Given the description of an element on the screen output the (x, y) to click on. 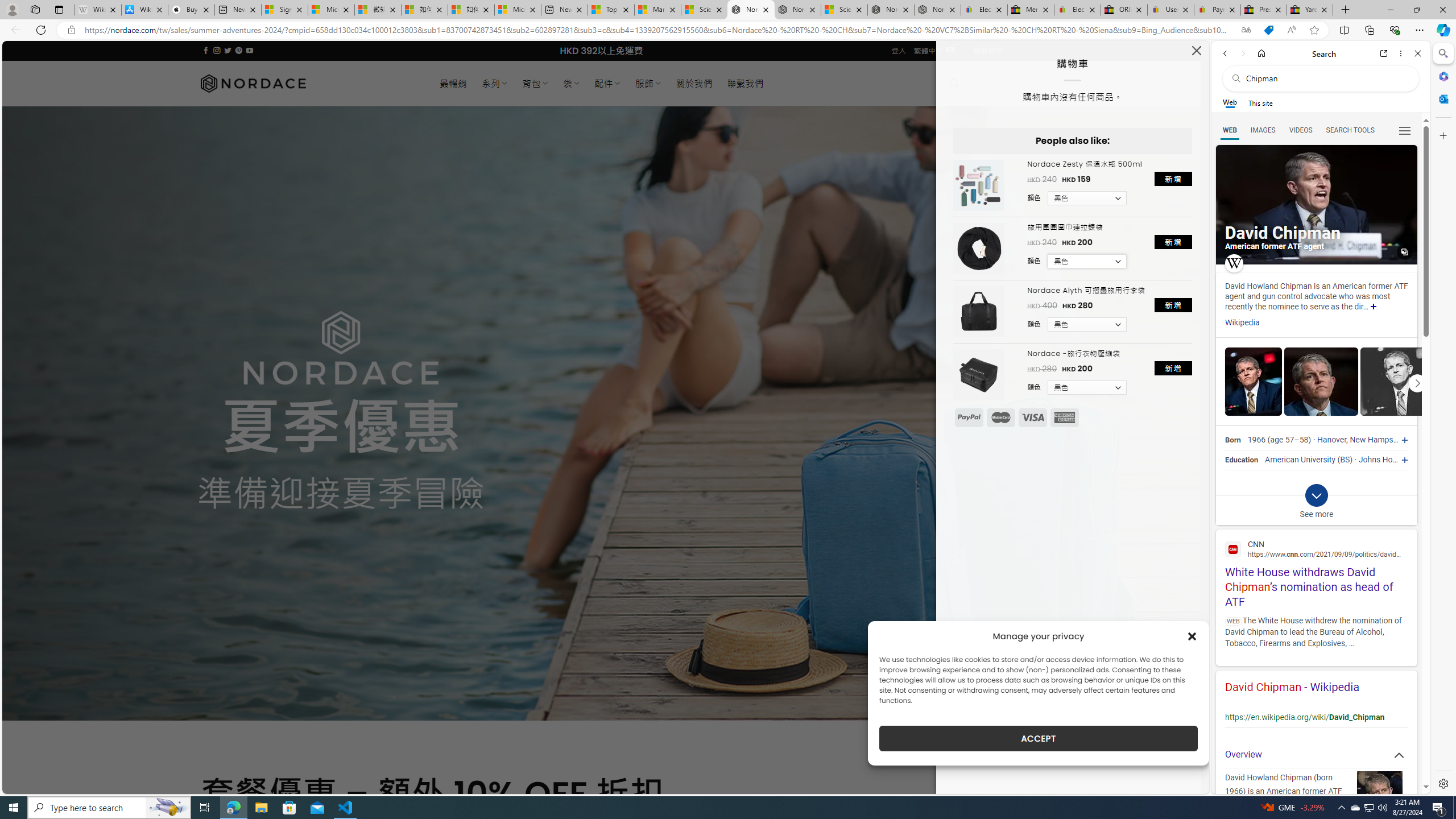
Follow on Twitter (227, 50)
Class: b_serphb (1404, 130)
Show translate options (1245, 29)
Search Filter, WEB (1230, 129)
